Given the description of an element on the screen output the (x, y) to click on. 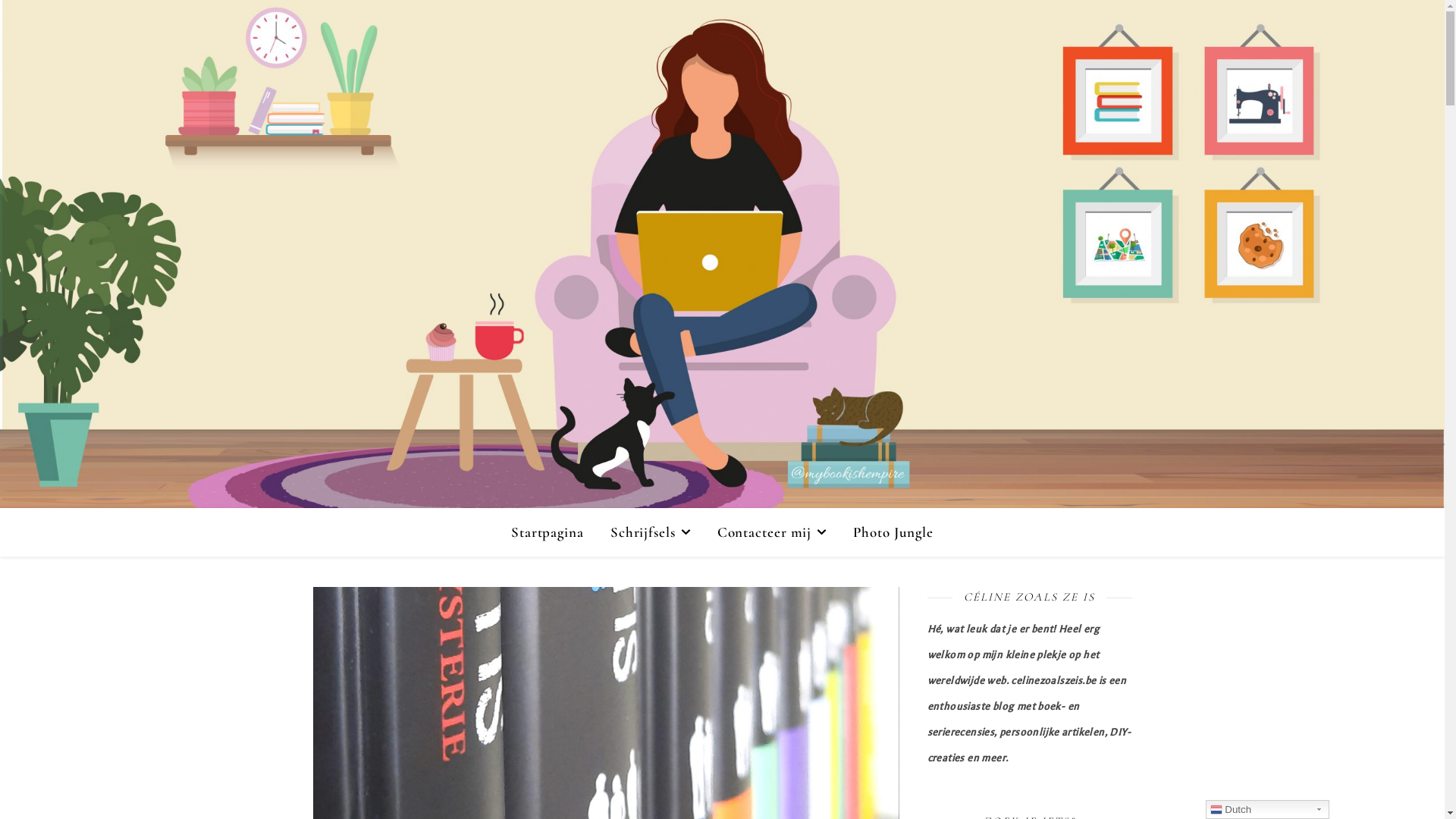
Photo Jungle Element type: text (886, 532)
Contacteer mij Element type: text (772, 532)
Startpagina Element type: text (553, 532)
celinezoalszeis Element type: hover (722, 254)
Schrijfsels Element type: text (650, 532)
